Given the description of an element on the screen output the (x, y) to click on. 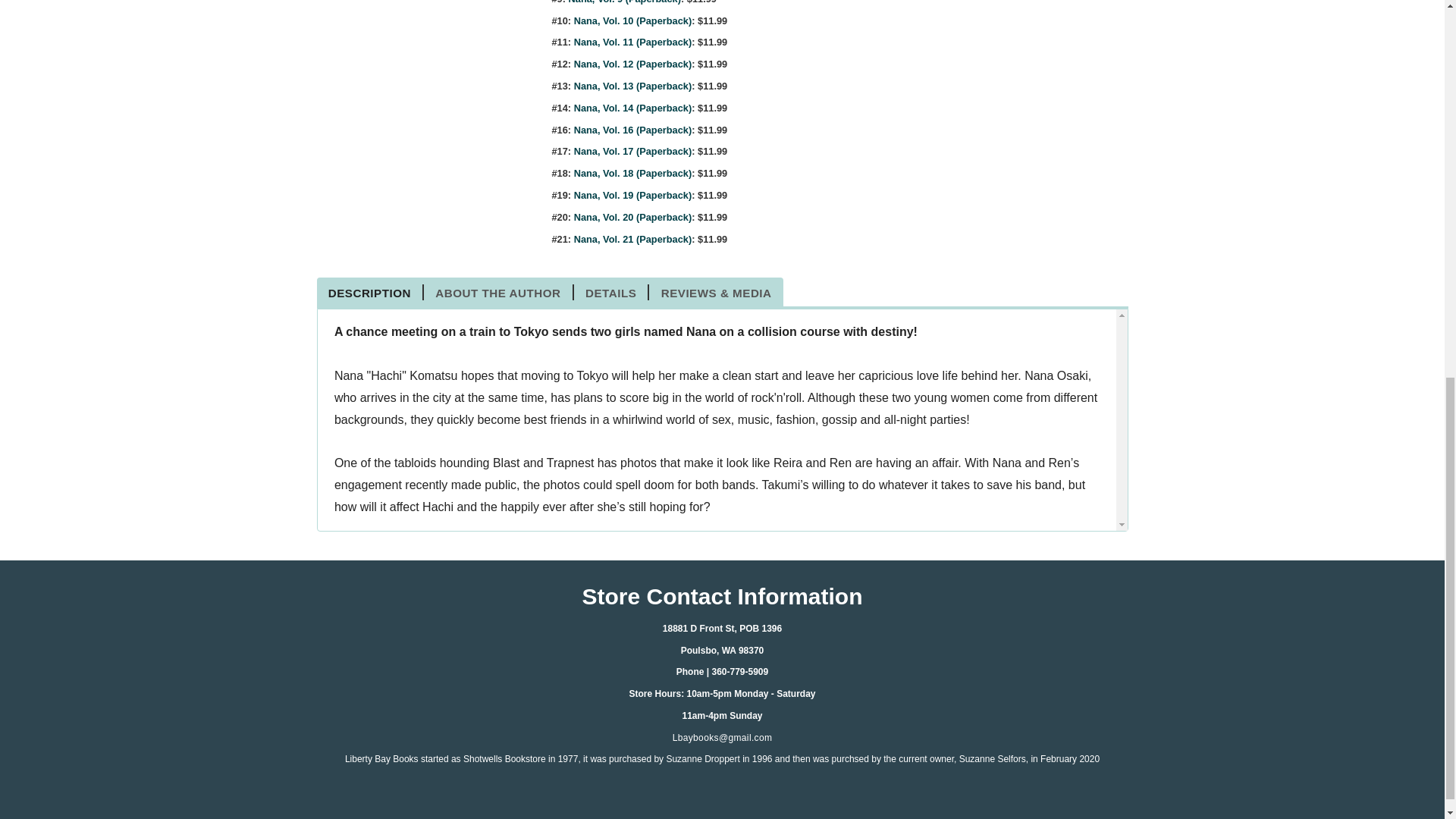
ABOUT THE AUTHOR (498, 292)
DESCRIPTION (371, 292)
DETAILS (611, 292)
